Given the description of an element on the screen output the (x, y) to click on. 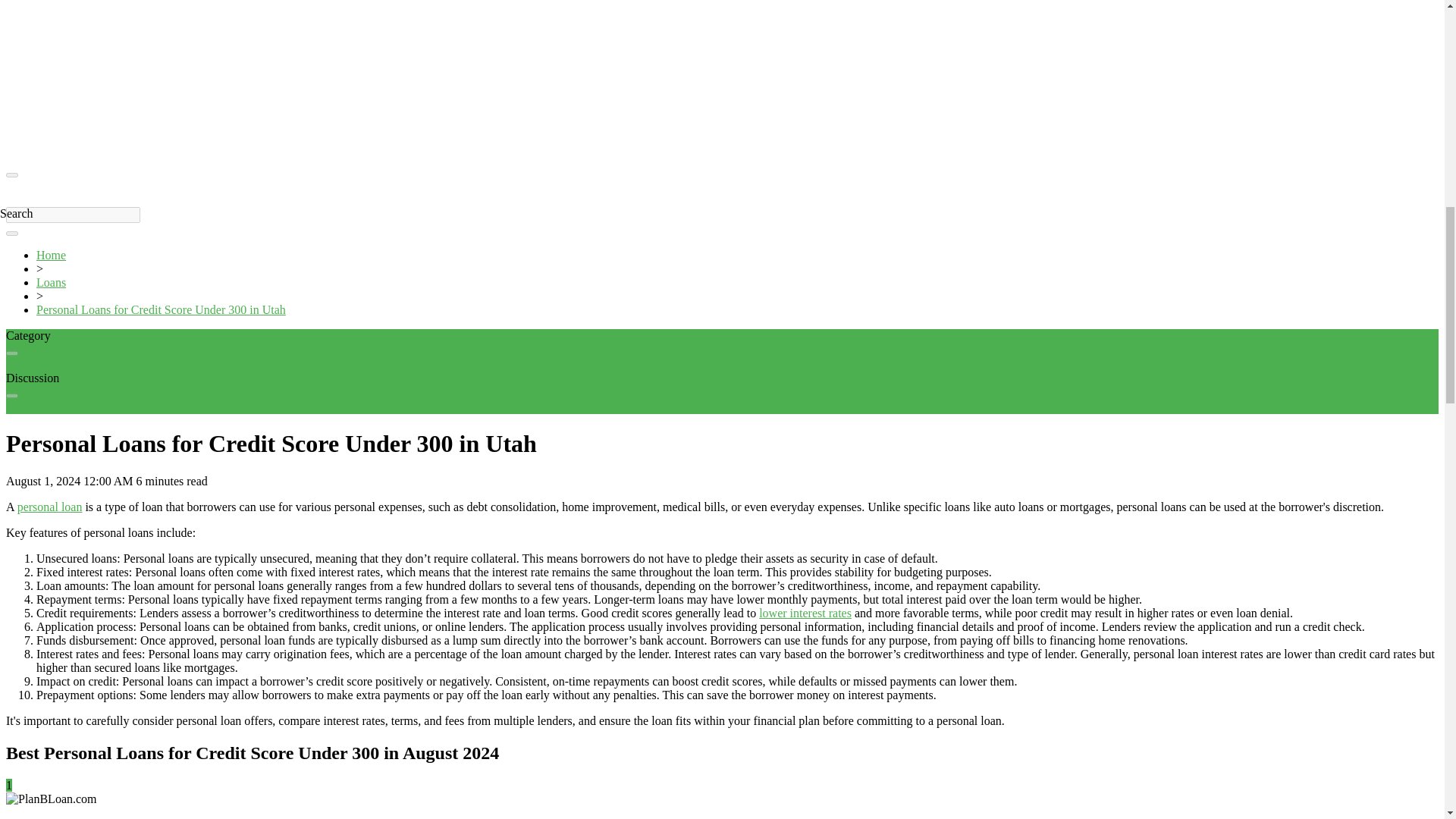
Home (50, 254)
lower interest rates (804, 612)
Personal Loans for Credit Score Under 300 in Utah (160, 309)
personal loan (49, 506)
Loans (50, 282)
